Given the description of an element on the screen output the (x, y) to click on. 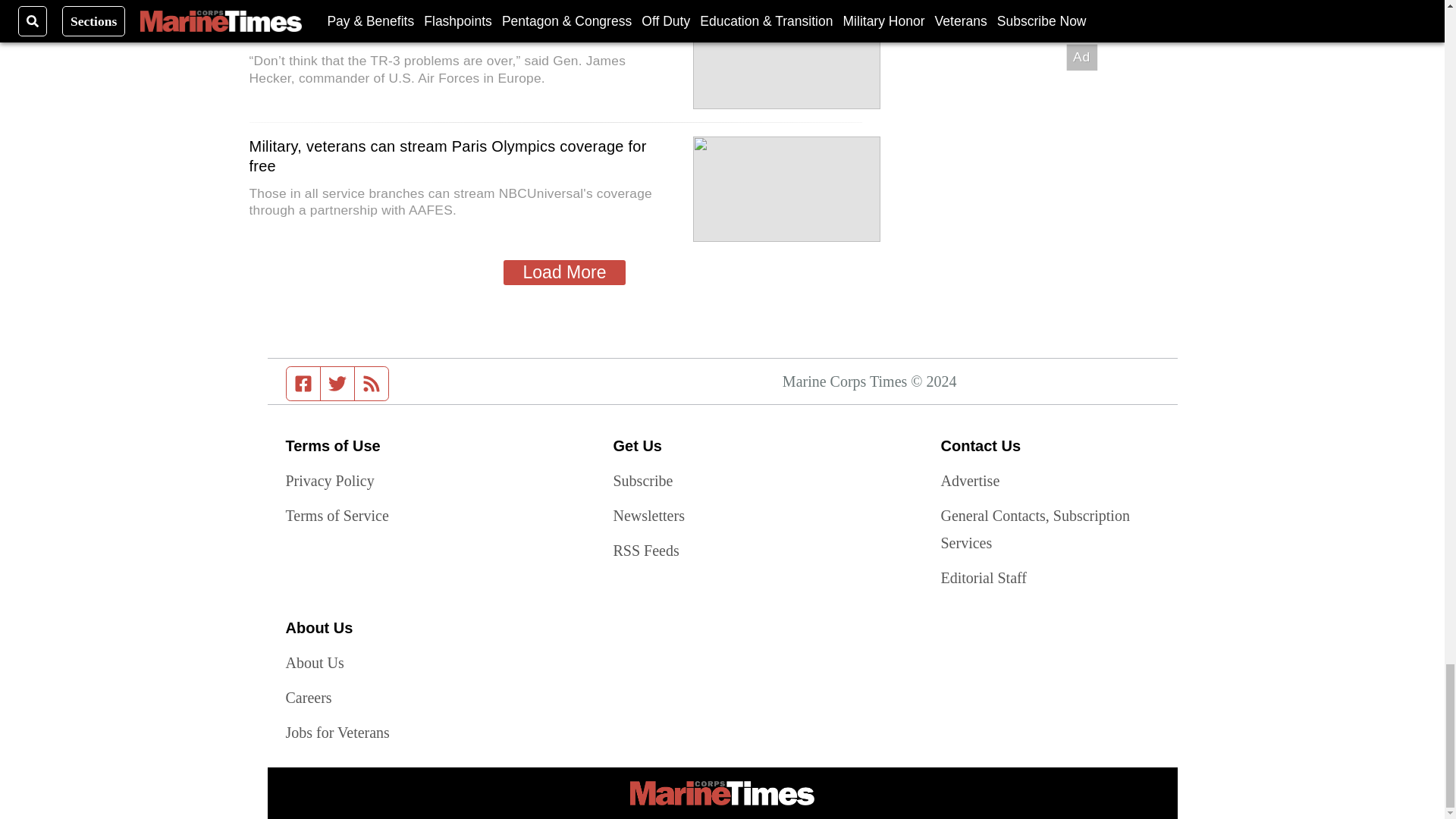
Twitter feed (336, 383)
RSS feed (371, 383)
Facebook page (303, 383)
